Given the description of an element on the screen output the (x, y) to click on. 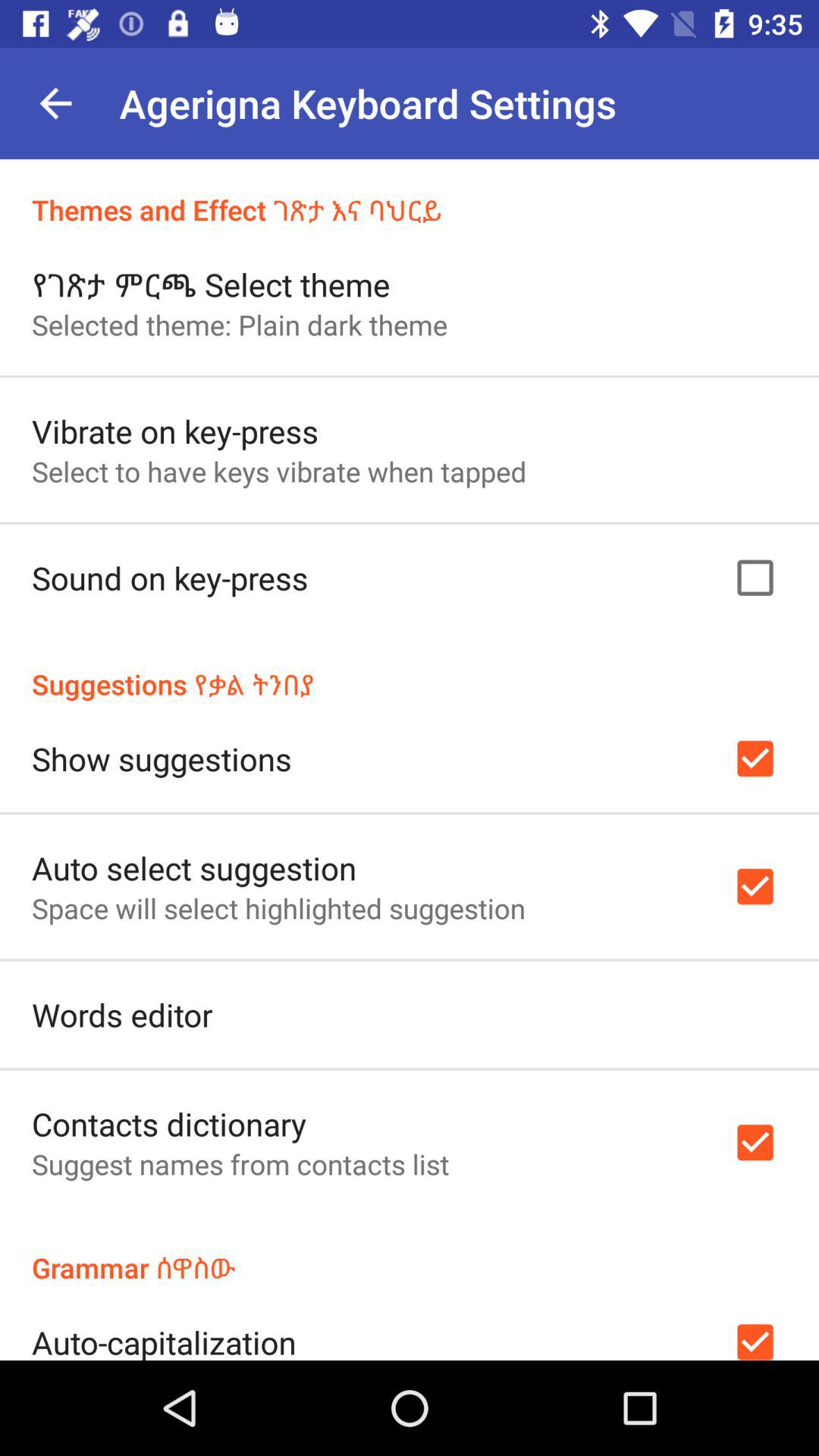
turn off icon above the contacts dictionary item (121, 1014)
